Given the description of an element on the screen output the (x, y) to click on. 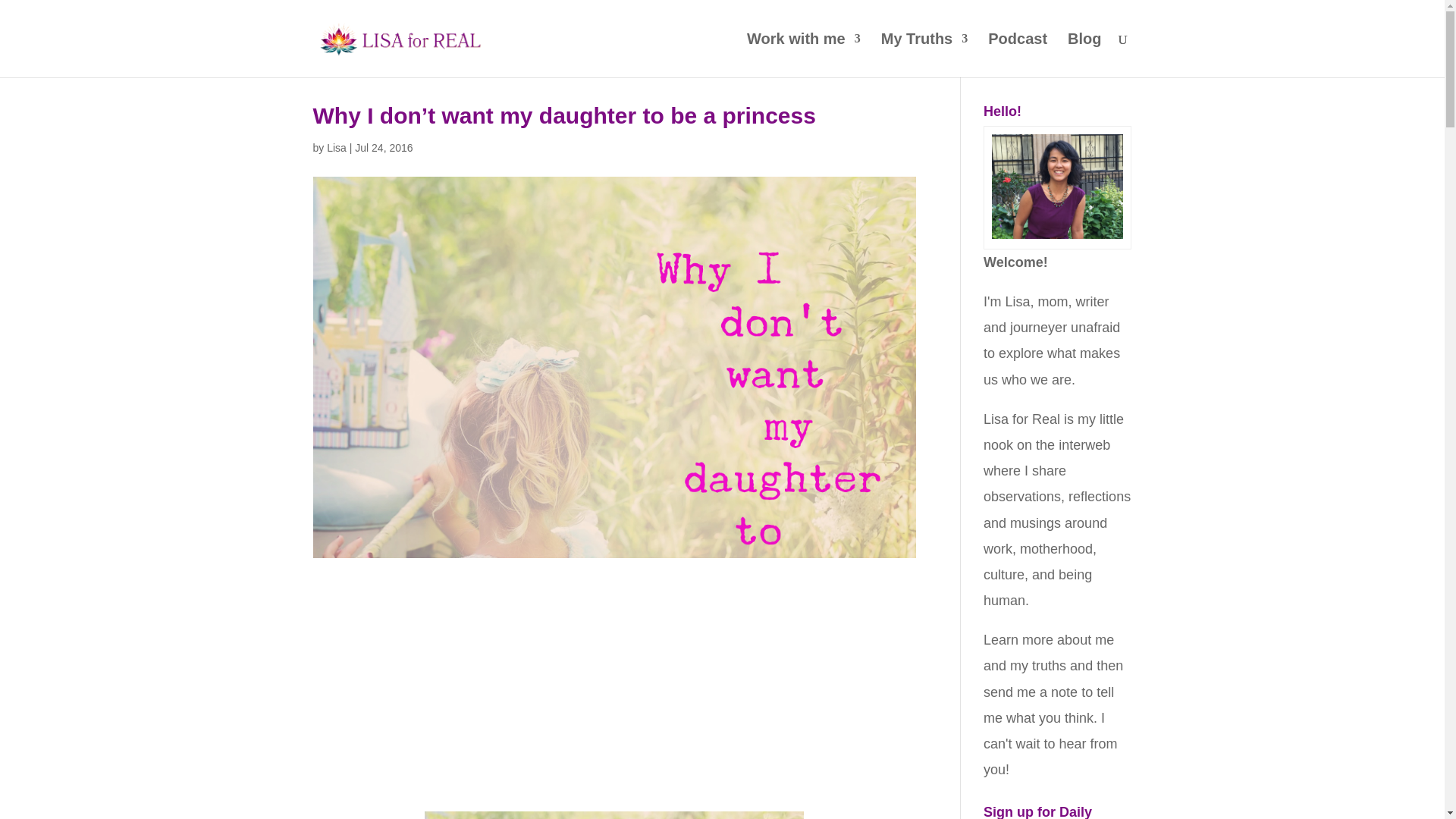
Lisa (336, 147)
Work with me (803, 54)
my truths (1037, 665)
send me a note (1030, 692)
Podcast (1017, 54)
My Truths (924, 54)
Blog (1083, 54)
Posts by Lisa (336, 147)
